Given the description of an element on the screen output the (x, y) to click on. 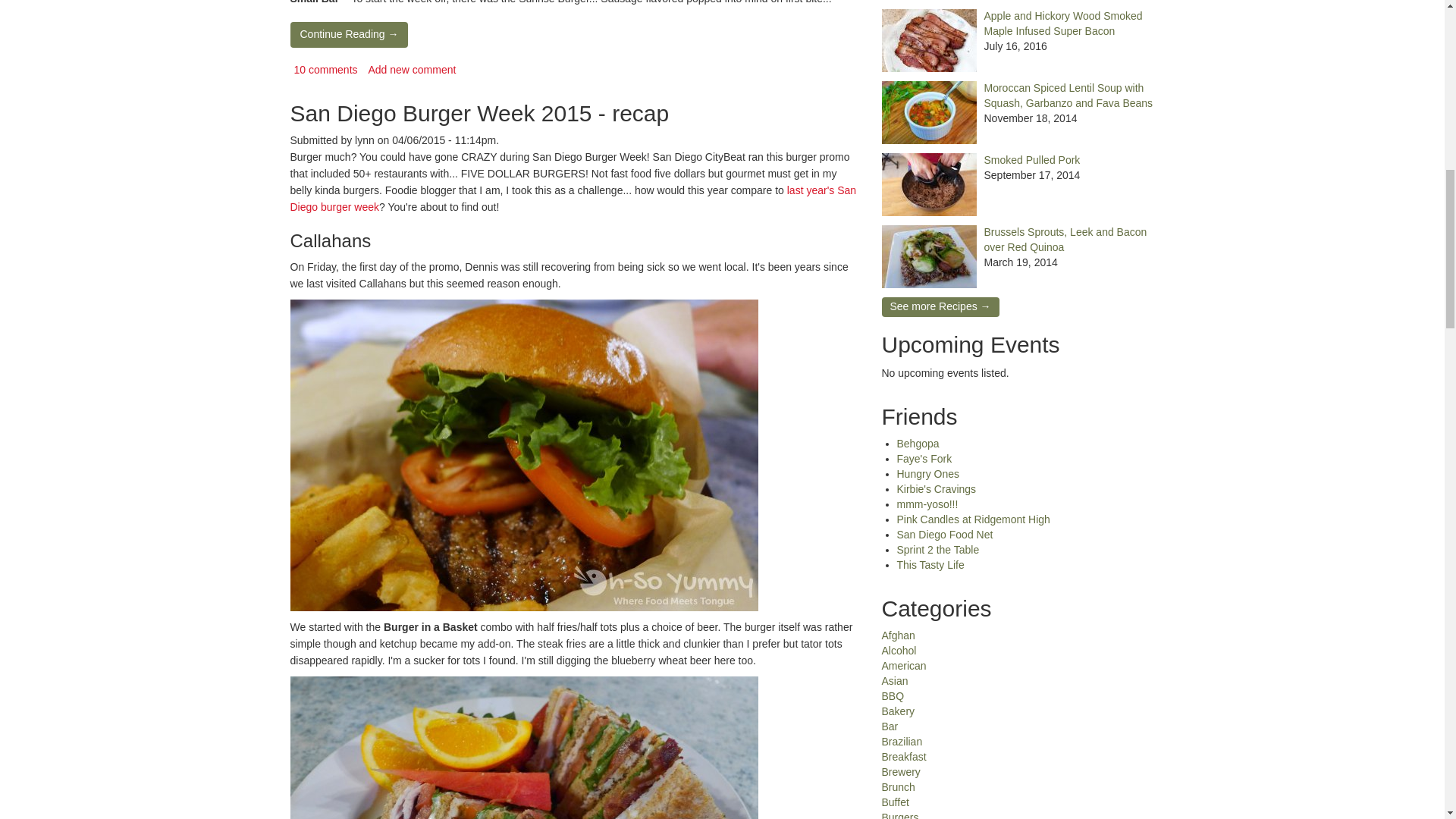
10 comments (326, 69)
Jump to the first comment of this posting. (326, 69)
San Diego Burger Week 2015 - recap (478, 113)
last year's San Diego burger week (572, 198)
Add new comment (411, 69)
Add a new comment to this page. (411, 69)
